Given the description of an element on the screen output the (x, y) to click on. 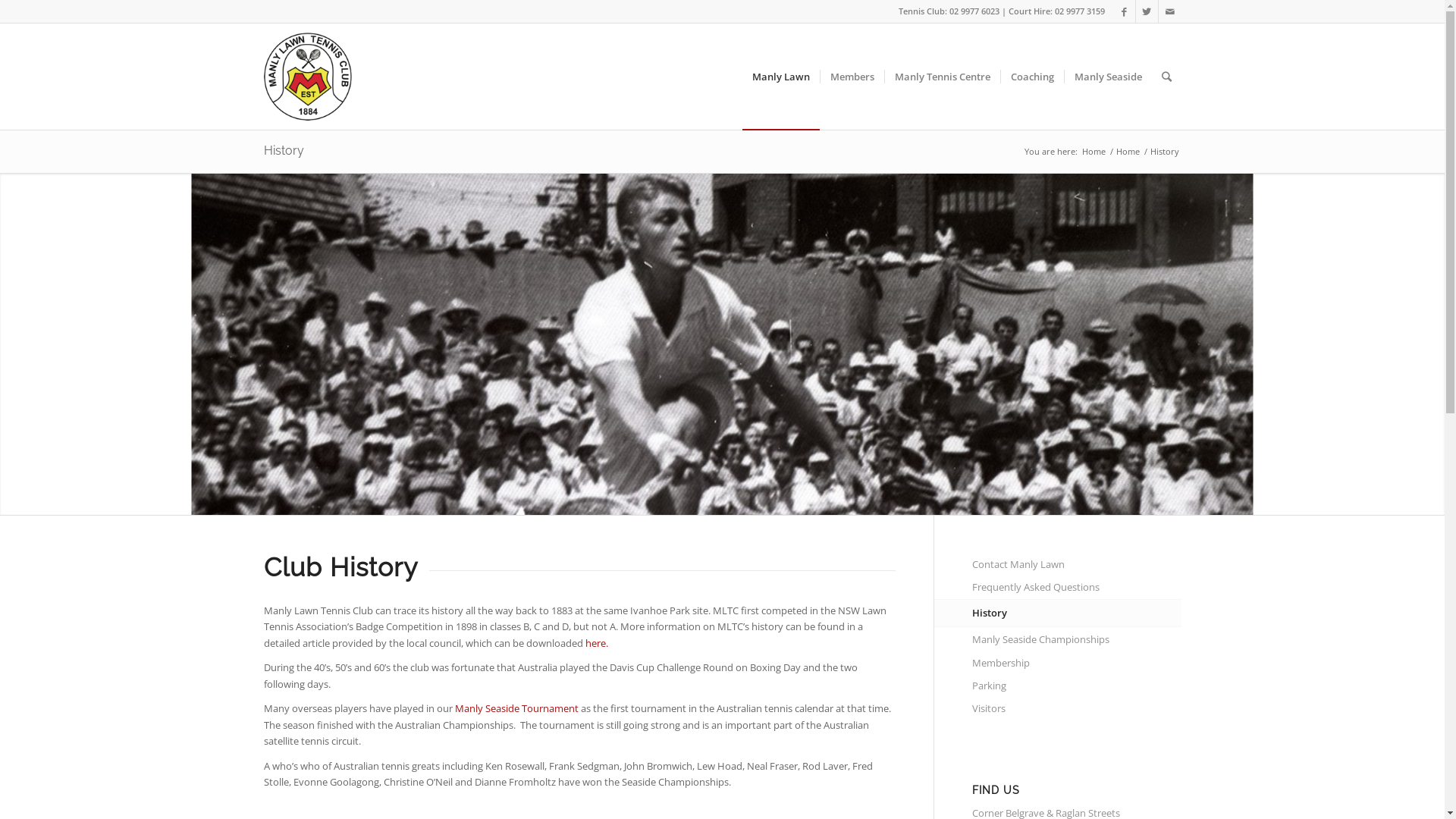
here. Element type: text (596, 642)
Coaching Element type: text (1031, 76)
Mail Element type: hover (1169, 11)
Manly Seaside Championships Element type: text (1076, 639)
History Element type: text (283, 150)
Contact Manly Lawn Element type: text (1076, 564)
Frequently Asked Questions Element type: text (1076, 587)
Home Element type: text (1127, 150)
Manly Seaside Tournament Element type: text (516, 708)
Visitors Element type: text (1076, 708)
History Element type: text (1076, 613)
Members Element type: text (851, 76)
Facebook Element type: hover (1124, 11)
Membership Element type: text (1076, 663)
Manly Tennis Centre Element type: text (942, 76)
Manly Seaside Element type: text (1107, 76)
Parking Element type: text (1076, 685)
Manly Lawn Element type: text (780, 76)
Home Element type: text (1093, 150)
Twitter Element type: hover (1146, 11)
